Given the description of an element on the screen output the (x, y) to click on. 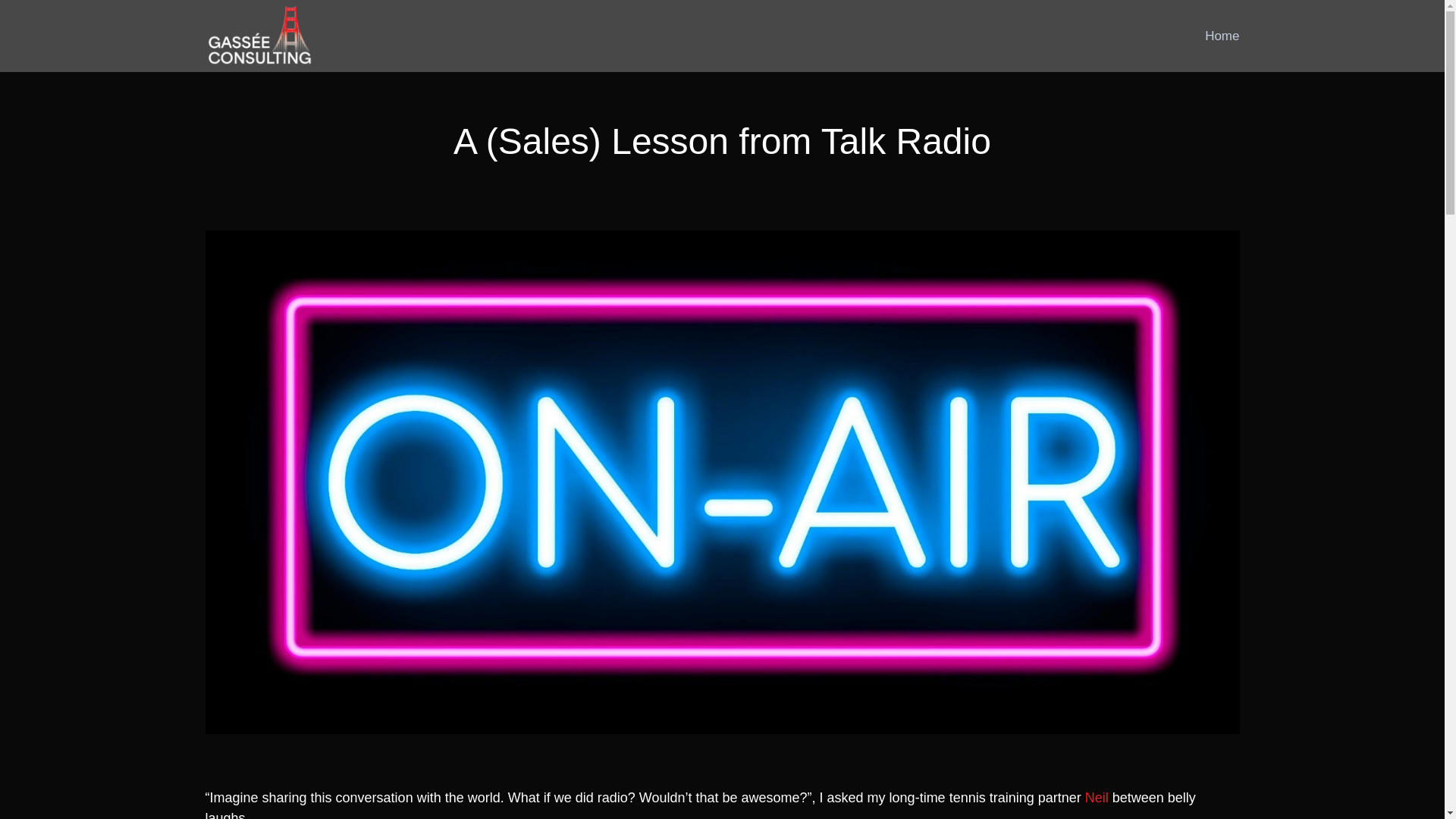
Neil (1096, 797)
